Given the description of an element on the screen output the (x, y) to click on. 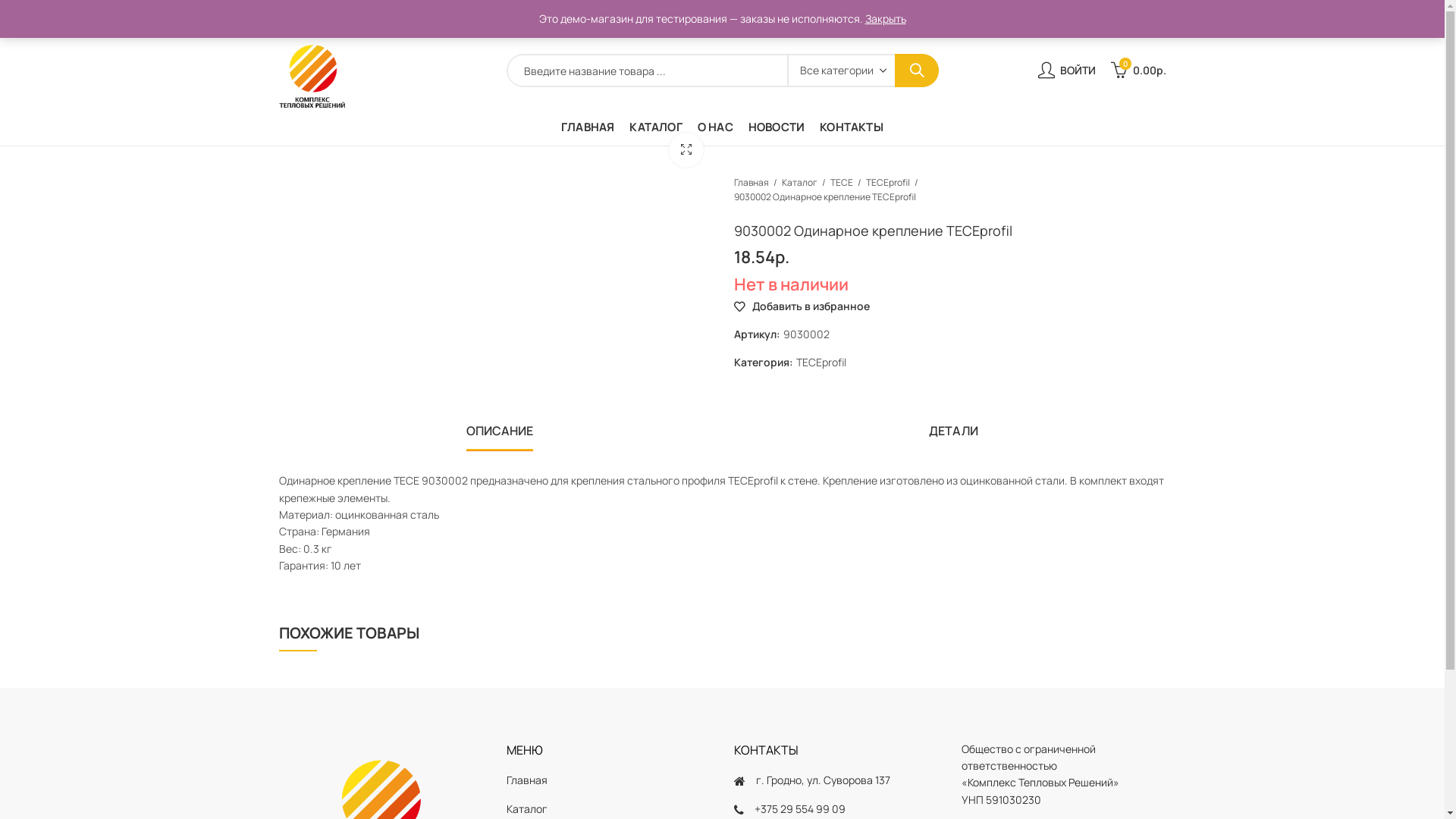
+375 29 554 99 09 Element type: text (1121, 15)
KTR9102@GMAIL.COM Element type: text (1007, 15)
TECE Element type: text (840, 182)
+375 29 554 99 09 Element type: text (798, 808)
TECEprofil Element type: text (821, 362)
TECEprofil Element type: text (888, 182)
